Given the description of an element on the screen output the (x, y) to click on. 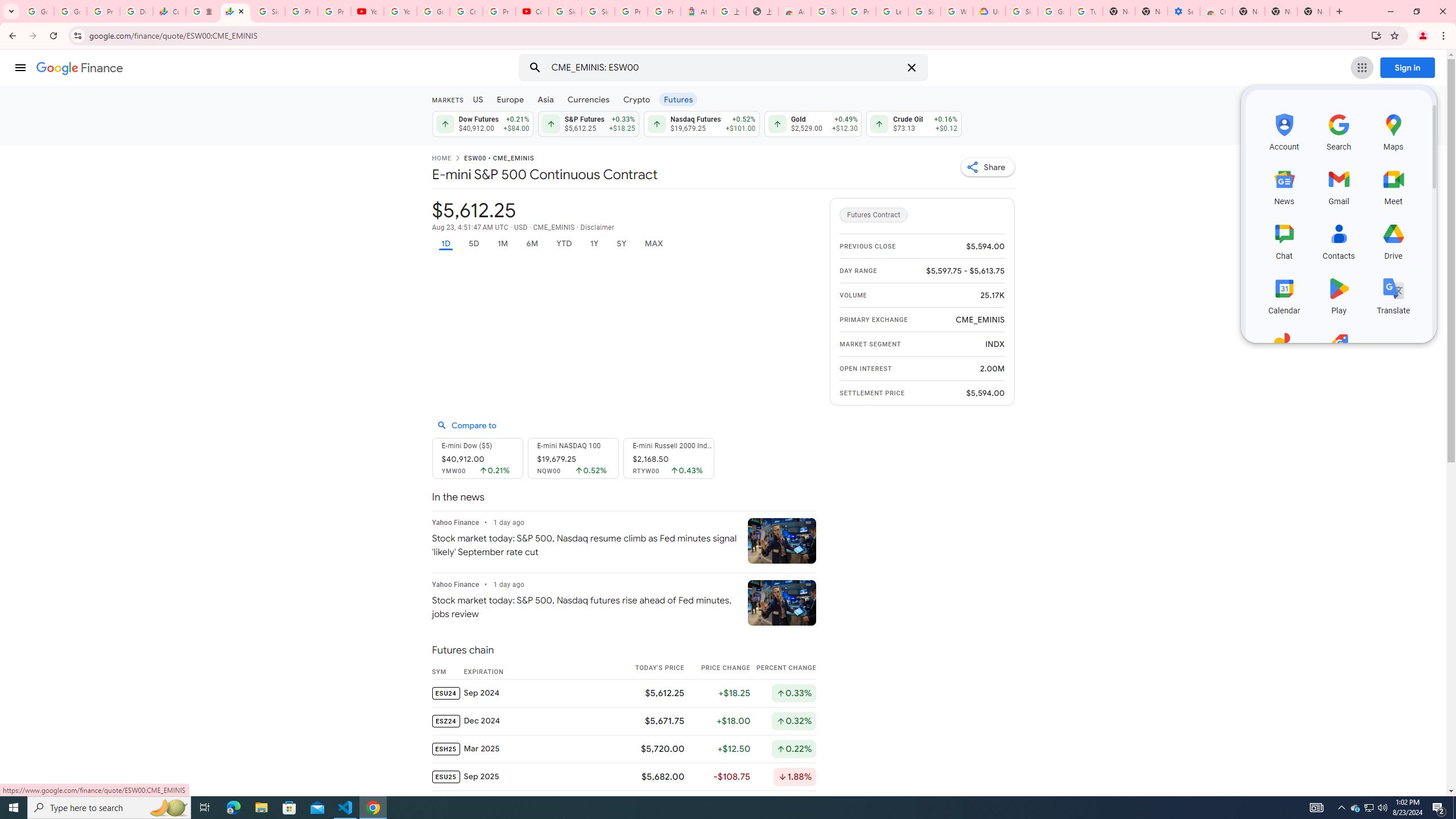
5D (473, 243)
Install Google Finance (1376, 35)
